Given the description of an element on the screen output the (x, y) to click on. 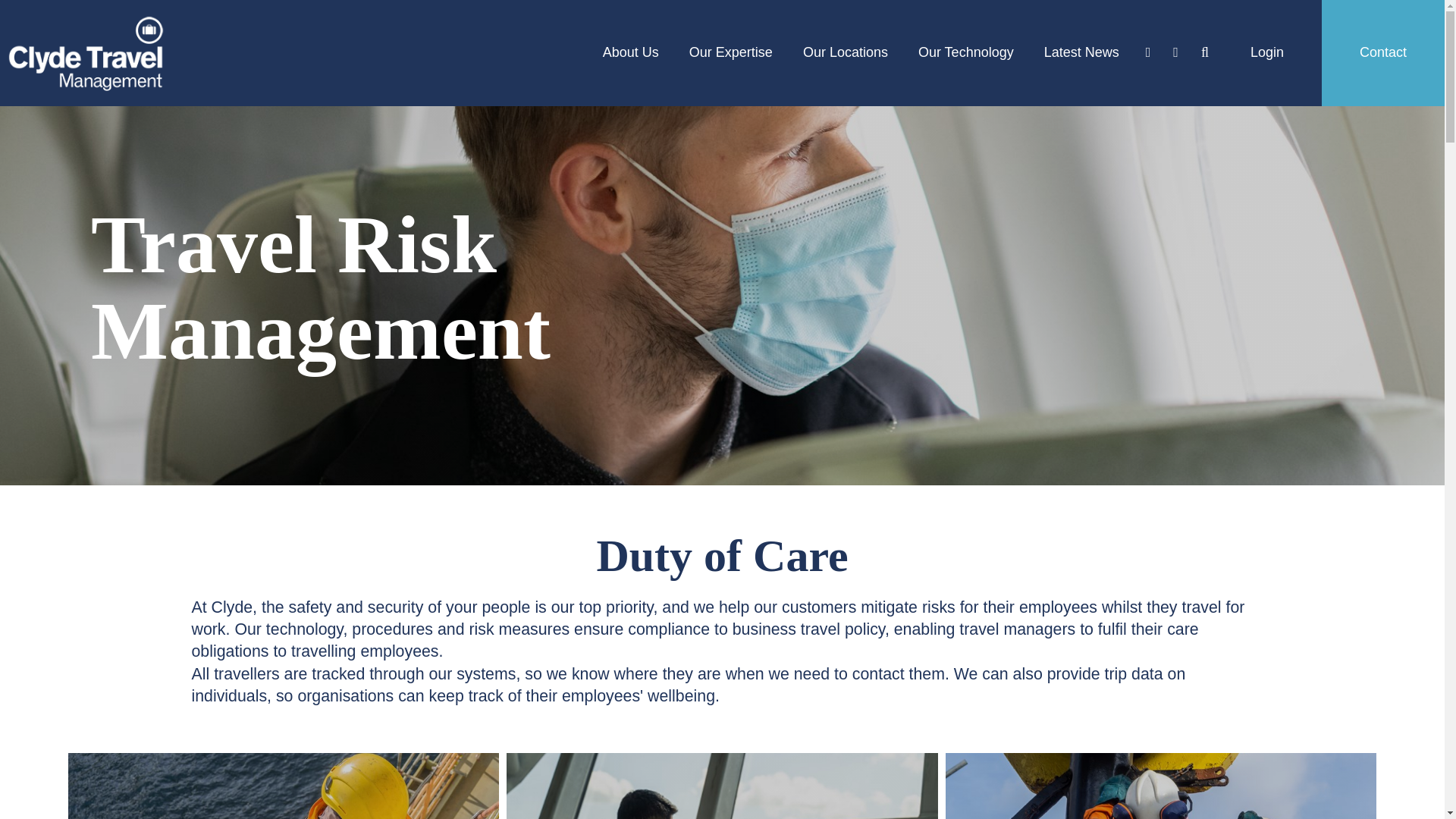
Our Expertise (730, 52)
Login (1267, 52)
Latest News (1081, 52)
About Us (630, 52)
Our Technology (965, 52)
Our Locations (845, 52)
